Given the description of an element on the screen output the (x, y) to click on. 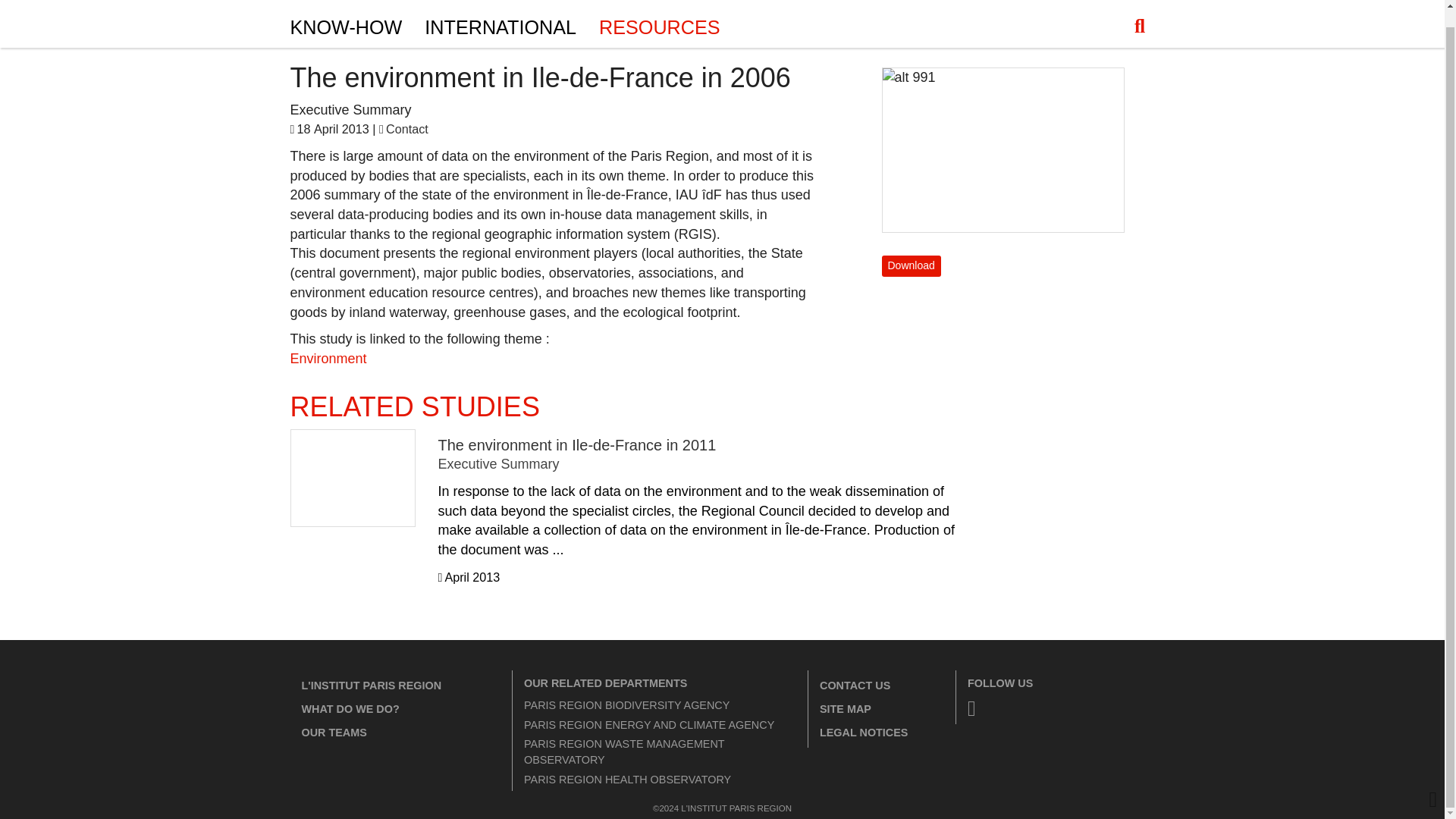
International (500, 24)
KNOW-HOW (346, 24)
INTERNATIONAL (500, 24)
Know-How (346, 24)
French website (1140, 0)
RESOURCES (660, 24)
Resources (660, 24)
FR (1140, 0)
